Given the description of an element on the screen output the (x, y) to click on. 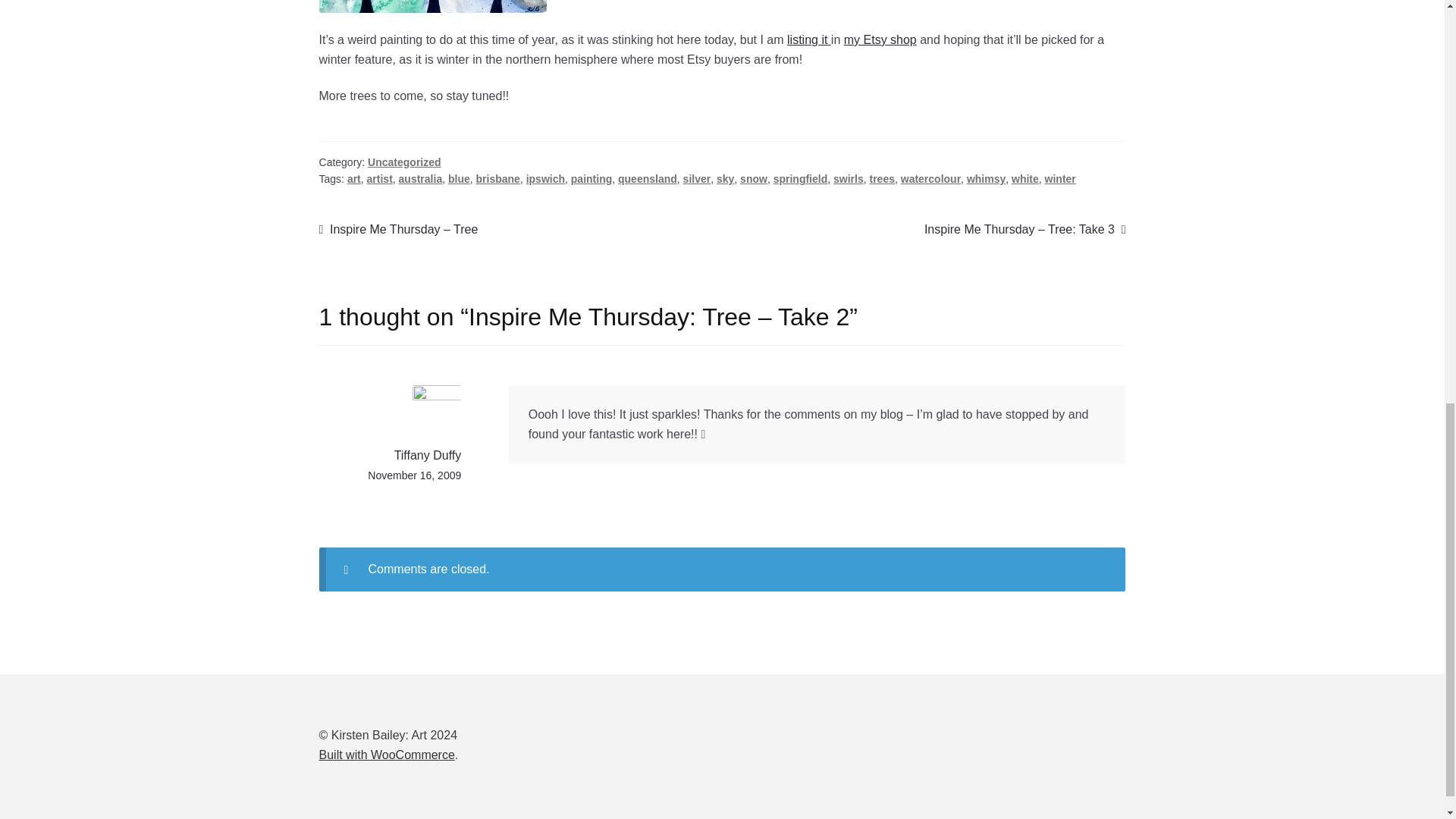
Silver White Winter (432, 6)
blue (459, 178)
listing it (809, 39)
WooCommerce - The Best eCommerce Platform for WordPress (386, 754)
art (354, 178)
artist (379, 178)
australia (420, 178)
my Etsy shop (880, 39)
Uncategorized (404, 162)
brisbane (497, 178)
